Given the description of an element on the screen output the (x, y) to click on. 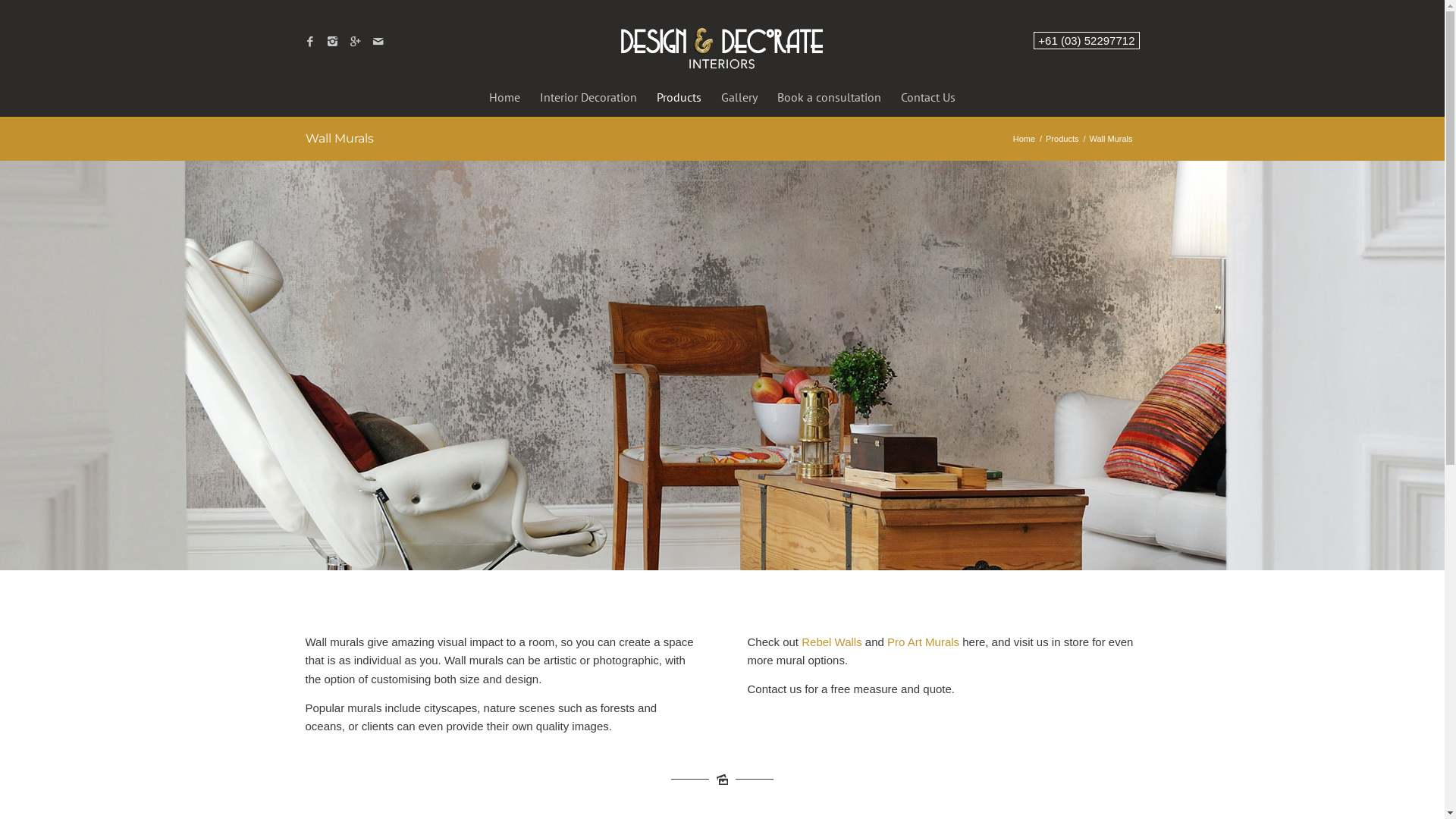
Gplus Element type: hover (355, 41)
Wall Murals Element type: text (338, 138)
Book a consultation Element type: text (829, 97)
Home Element type: text (1023, 138)
Pro Art Murals Element type: text (923, 641)
Contact Us Element type: text (928, 97)
Products Element type: text (678, 97)
Rebel Walls Element type: text (831, 641)
Instagram Element type: hover (332, 41)
Facebook Element type: hover (309, 41)
Gallery Element type: text (739, 97)
Mail Element type: hover (378, 41)
Home Element type: text (504, 97)
Interior Decoration Element type: text (588, 97)
Products Element type: text (1061, 138)
+61 (03) 52297712 Element type: text (1086, 40)
